Given the description of an element on the screen output the (x, y) to click on. 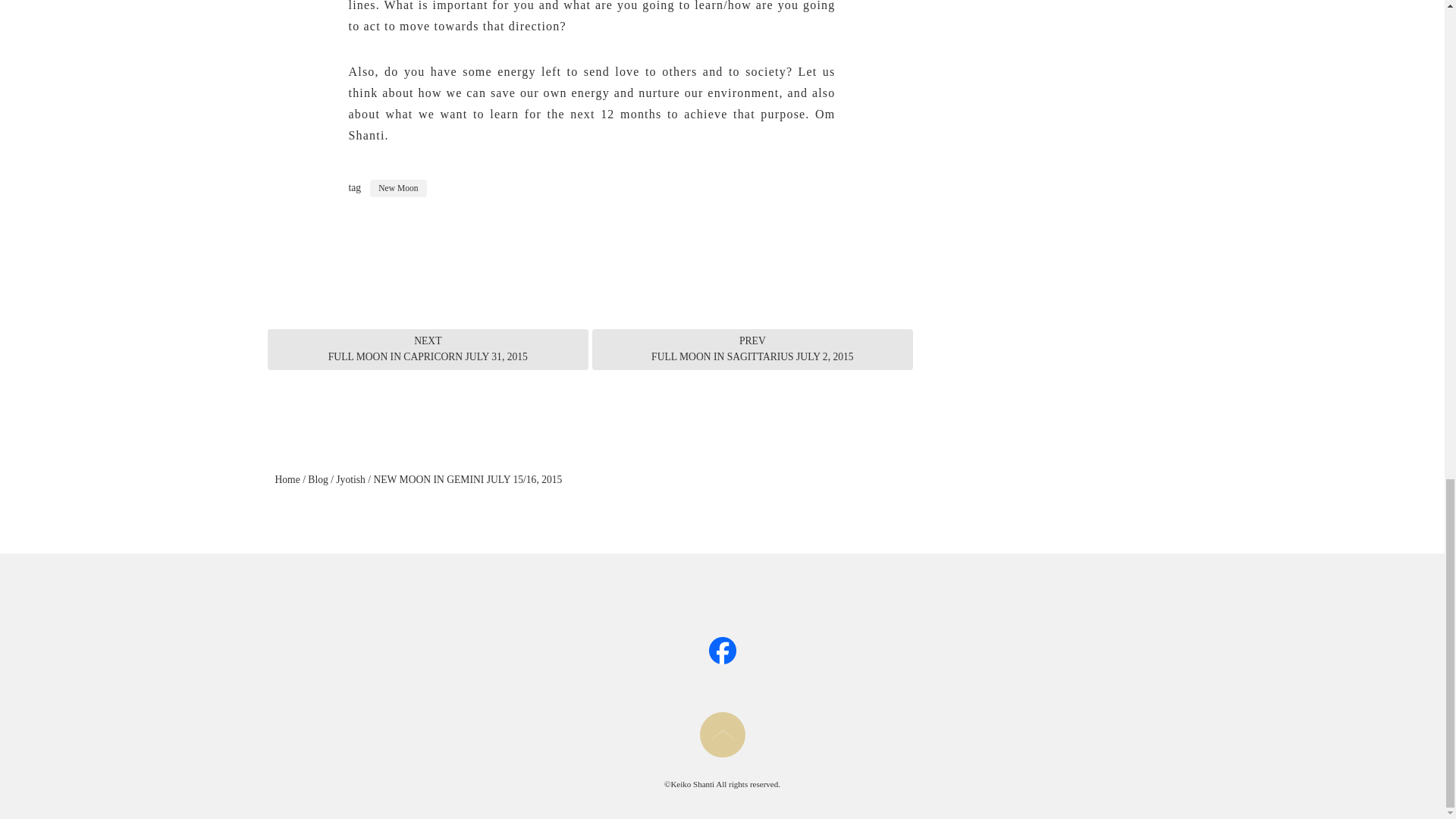
Home (287, 479)
Go to the Jyotish category archives. (751, 348)
Go to Keiko Shanti. (350, 479)
Blog (427, 348)
Jyotish (287, 479)
New Moon (317, 479)
Go to the Blog category archives. (350, 479)
page too (397, 188)
